Given the description of an element on the screen output the (x, y) to click on. 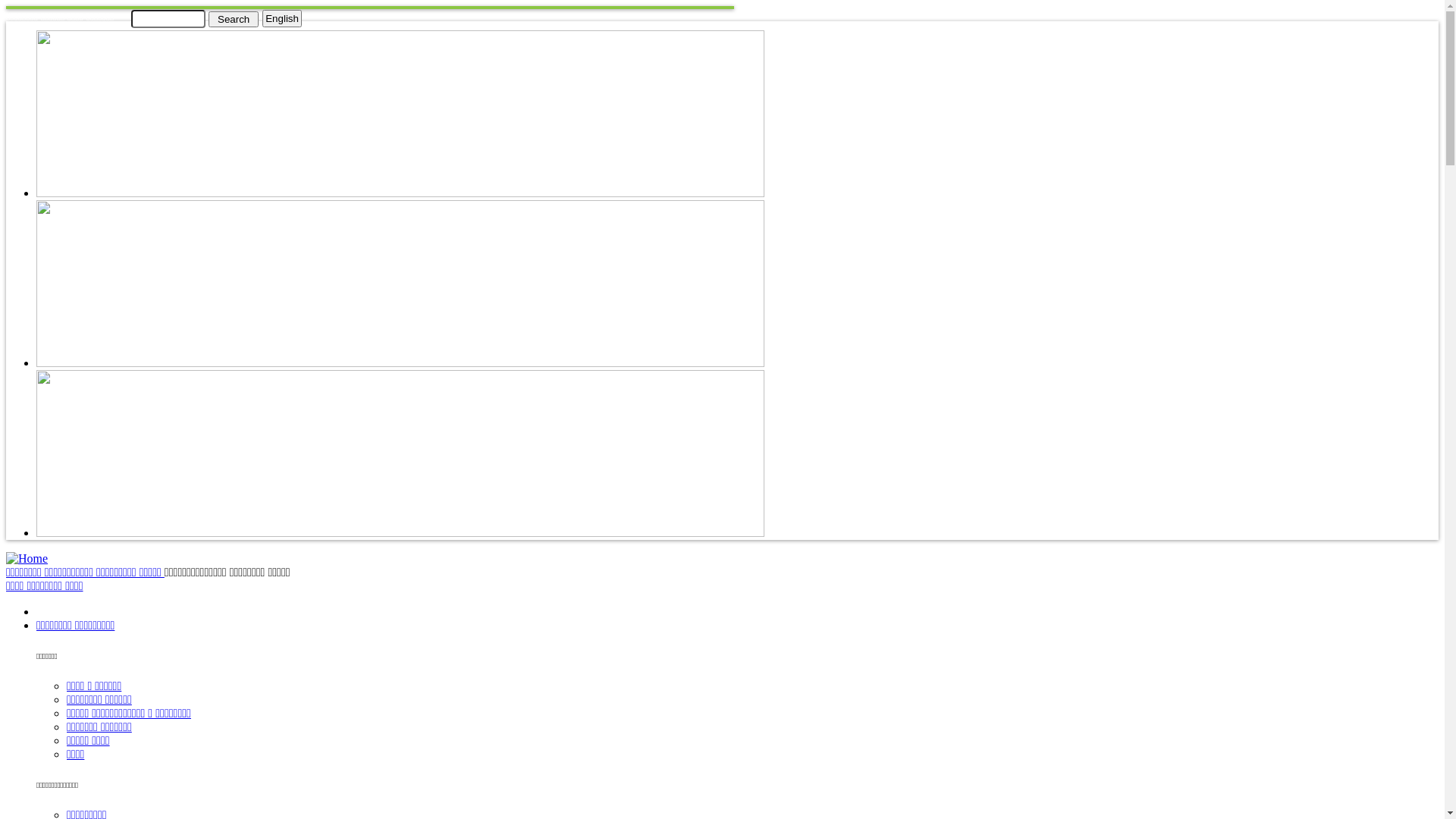
Home Element type: hover (26, 558)
Search Element type: text (233, 18)
English Element type: text (281, 18)
